Given the description of an element on the screen output the (x, y) to click on. 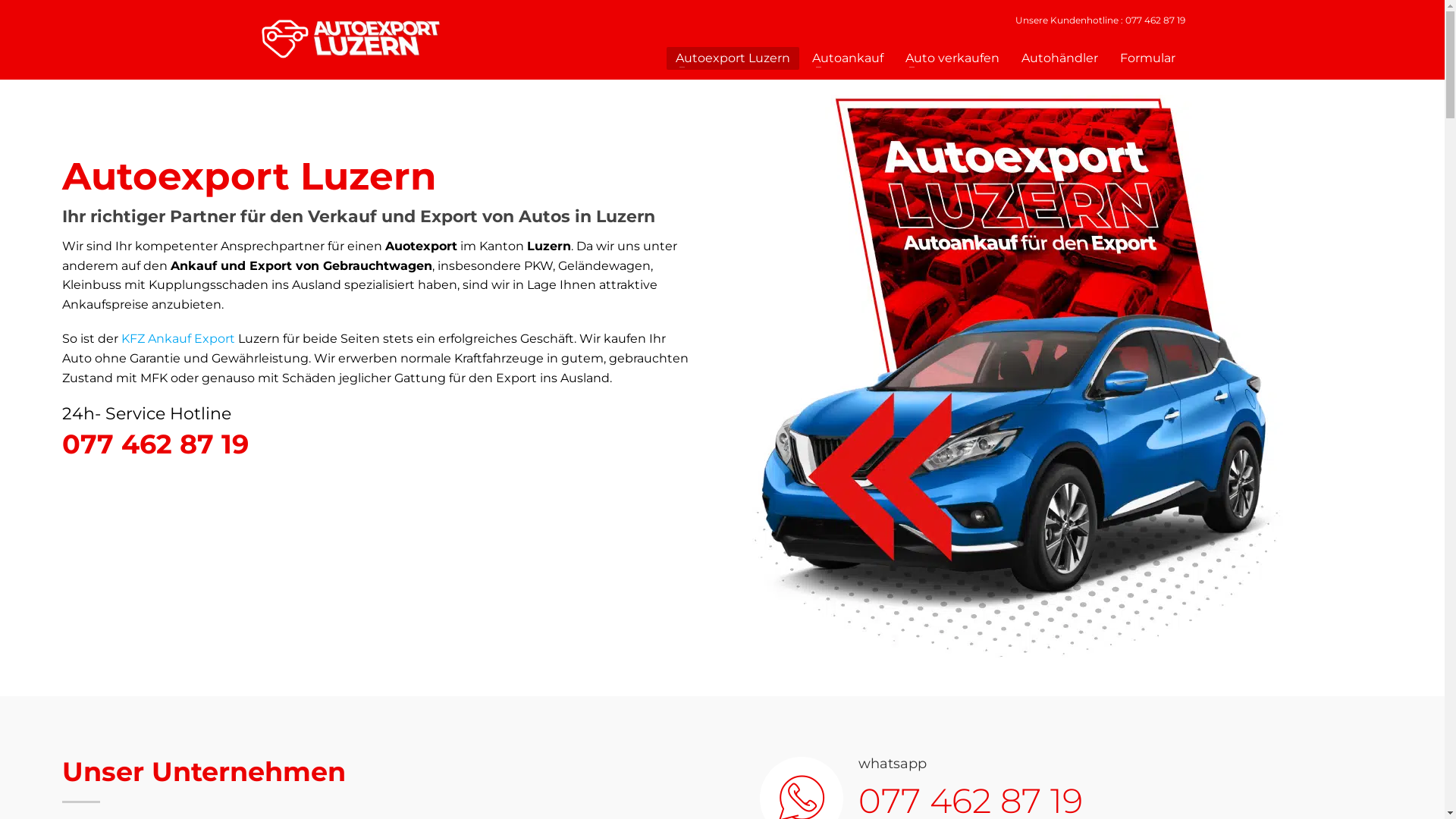
KFZ Ankauf Export Element type: text (178, 338)
Auto in Luzern verkaufen schnell zum Bestpreis Element type: hover (350, 36)
Auto verkaufen Element type: text (952, 58)
Autoexport Luzern Element type: hover (1067, 376)
Formular Element type: text (1147, 58)
Autoexport Luzern Element type: text (732, 58)
Autoankauf Element type: text (847, 58)
